Given the description of an element on the screen output the (x, y) to click on. 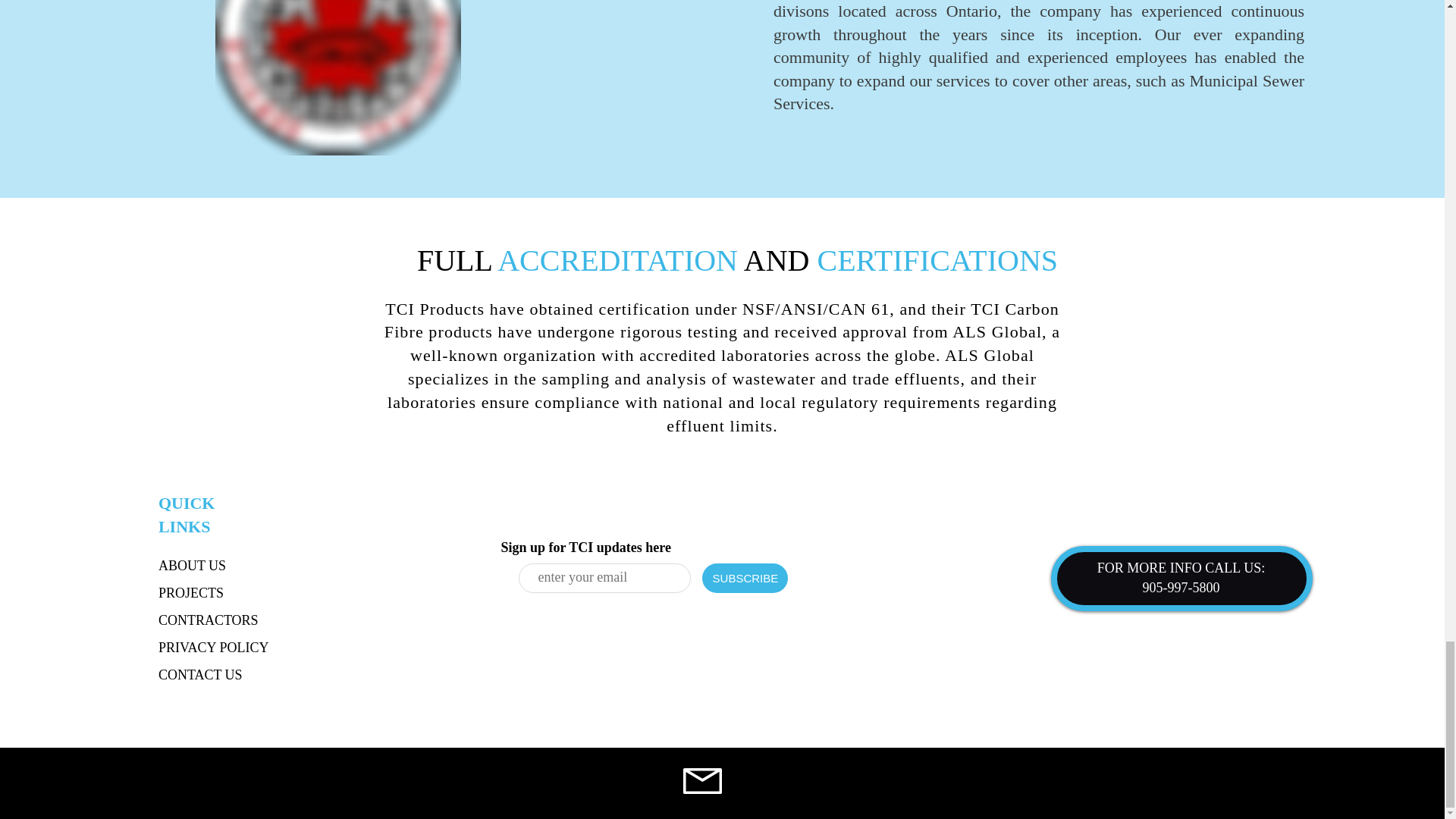
PROJECTS (191, 592)
ABOUT US (191, 565)
UMC (95, 688)
